Given the description of an element on the screen output the (x, y) to click on. 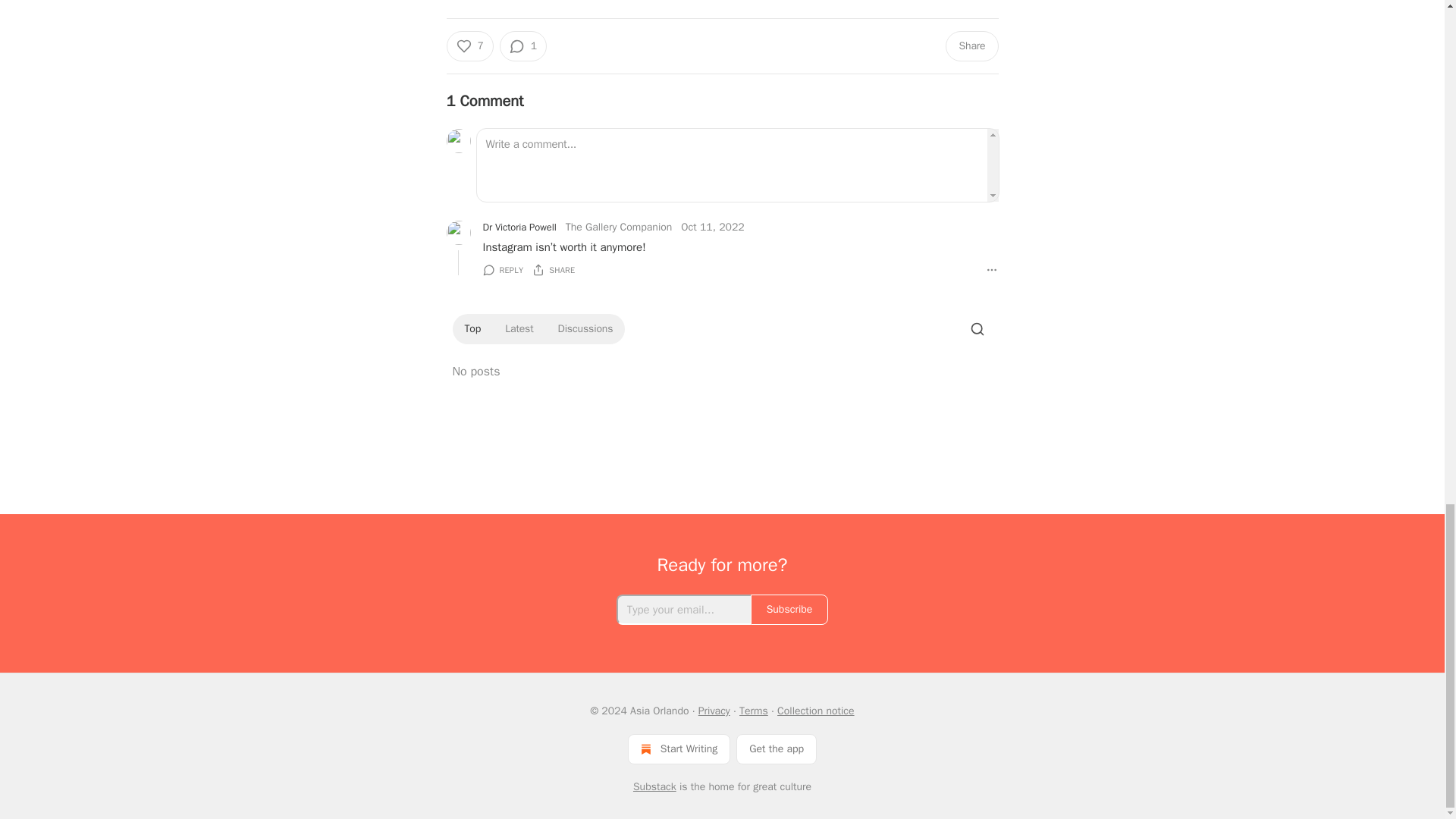
Share (970, 46)
1 (523, 46)
The Gallery Companion (619, 226)
Dr Victoria Powell (518, 227)
Oct 11, 2022 (712, 227)
7 (469, 46)
